Given the description of an element on the screen output the (x, y) to click on. 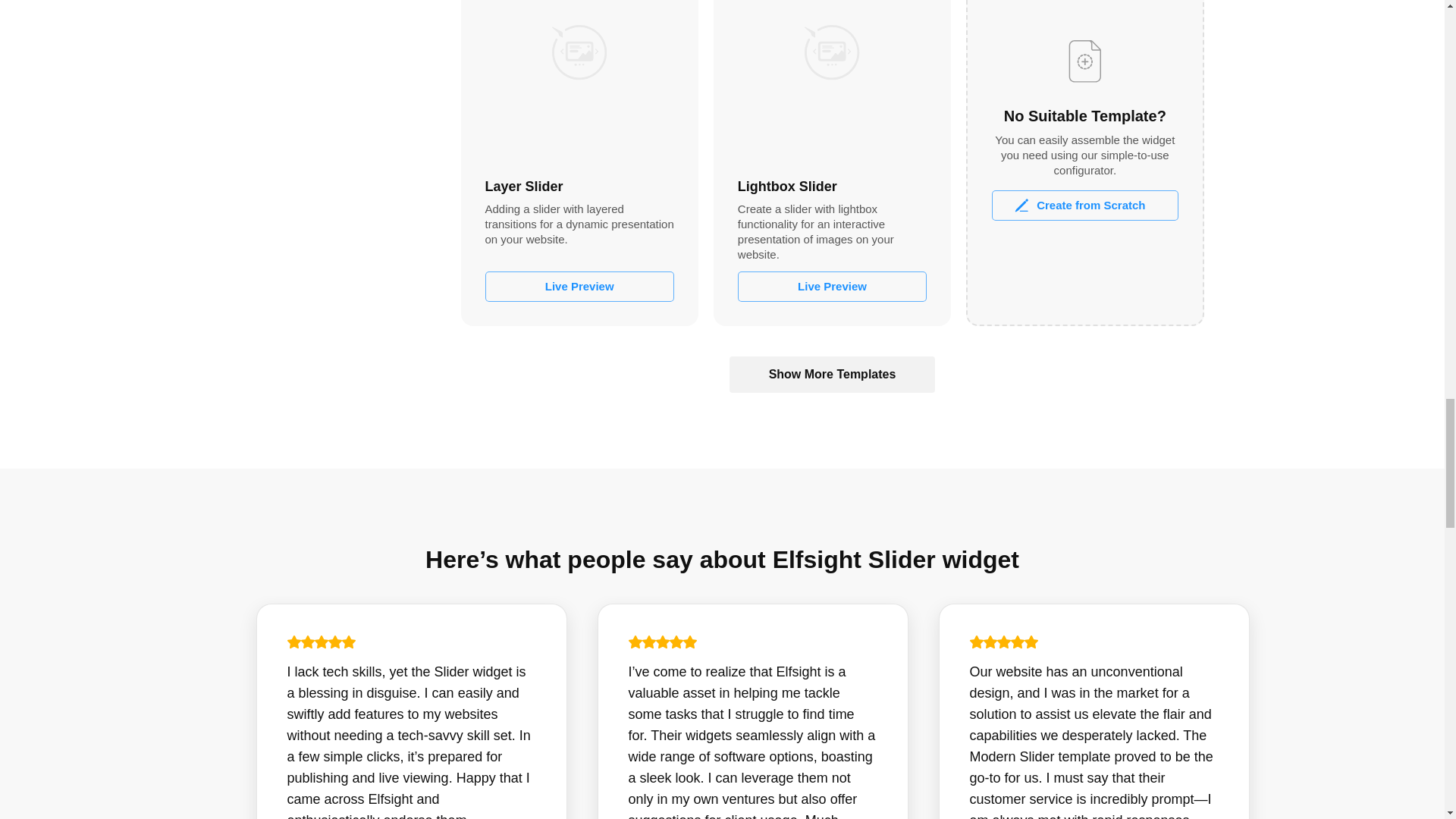
Layer Slider (579, 81)
Lightbox Slider (832, 81)
